Given the description of an element on the screen output the (x, y) to click on. 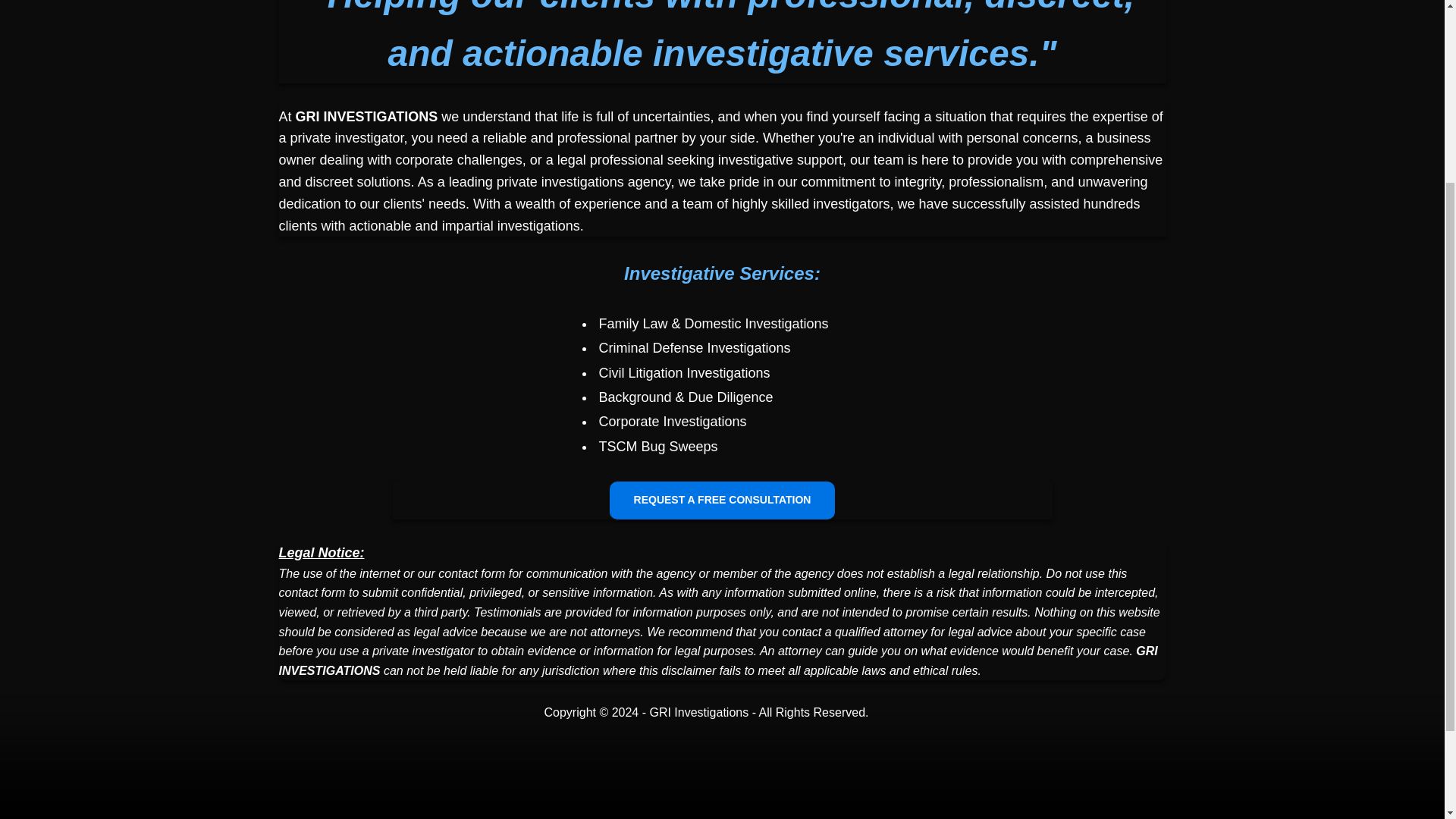
REQUEST A FREE CONSULTATION (722, 500)
